Given the description of an element on the screen output the (x, y) to click on. 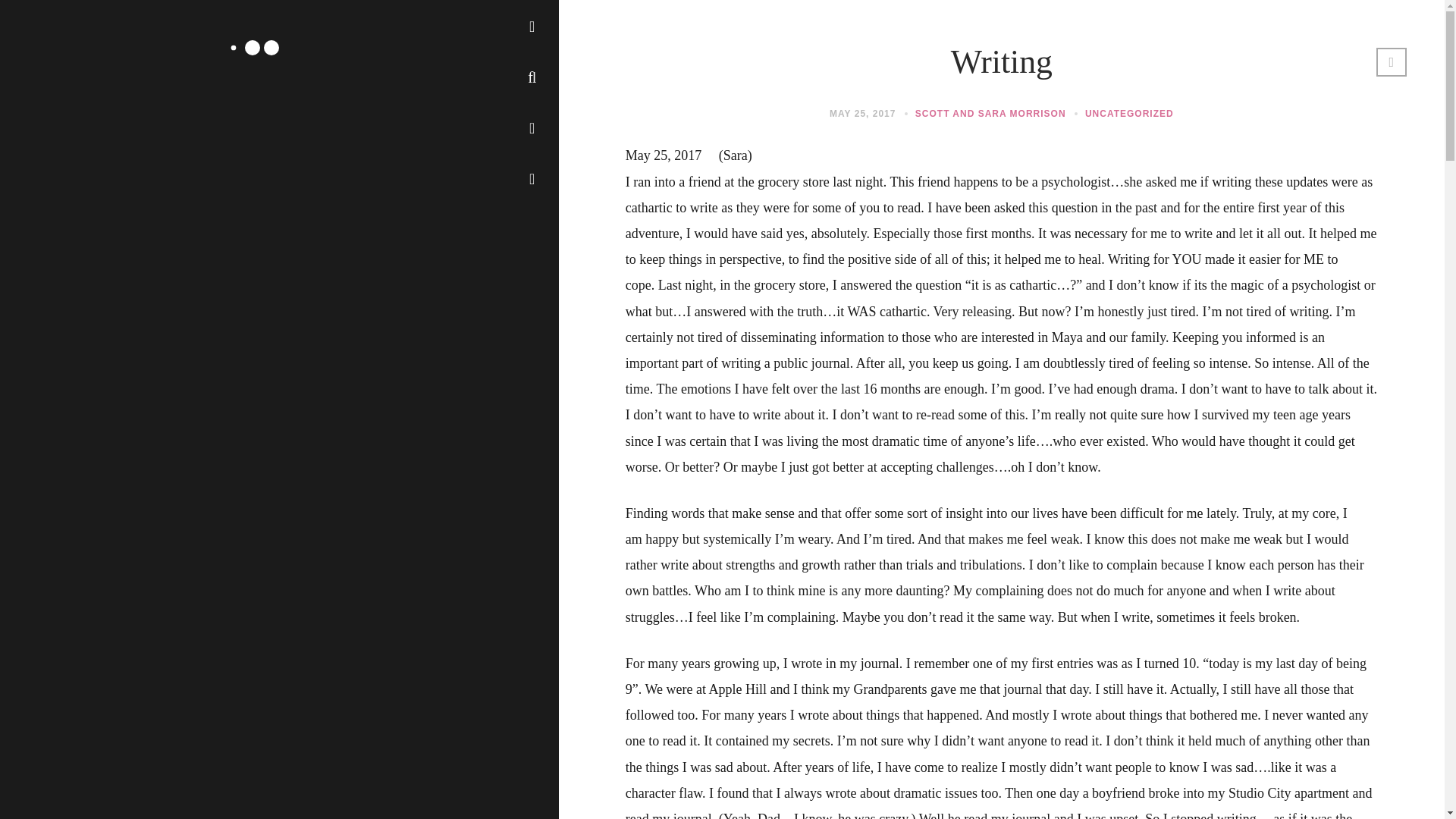
Our Friends (115, 171)
Posts by Scott and Sara Morrison (990, 113)
Home (99, 41)
View all posts in Uncategorized (1128, 113)
Contact (103, 92)
Youtube (532, 177)
Search for: (307, 171)
Search (22, 9)
SCOTT AND SARA MORRISON (990, 113)
UNCATEGORIZED (1128, 113)
